Given the description of an element on the screen output the (x, y) to click on. 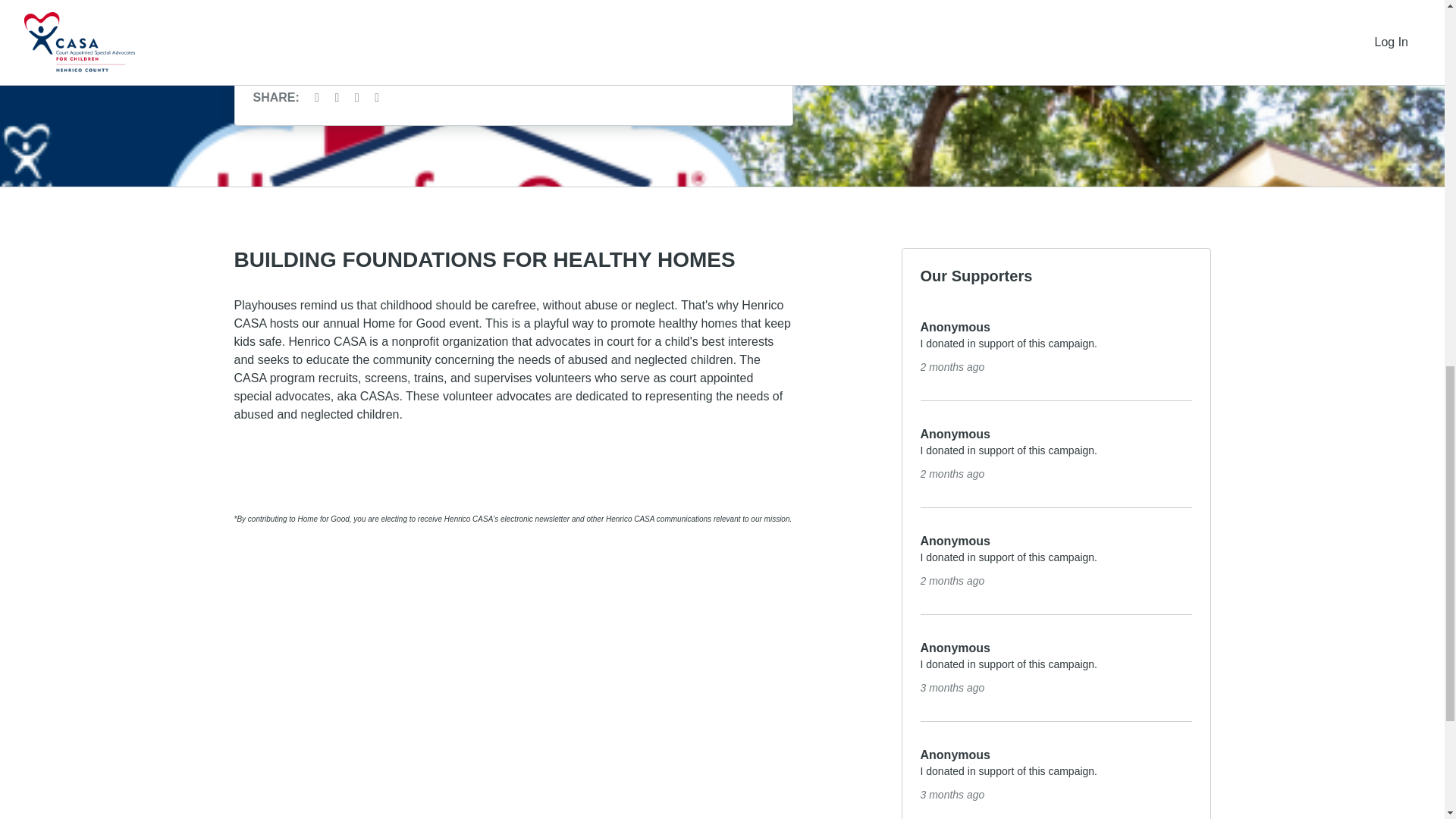
about 12 hours ago (952, 687)
Donate Monthly (513, 43)
about 24 hours ago (952, 473)
5 days ago (952, 794)
about 24 hours ago (952, 580)
about 4 hours ago (952, 367)
